Given the description of an element on the screen output the (x, y) to click on. 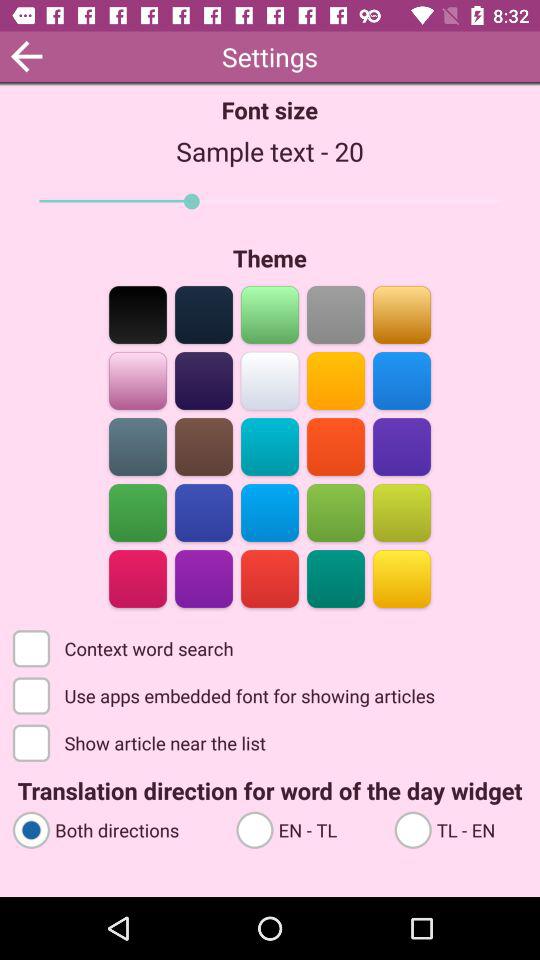
tap icon below use apps embedded icon (141, 741)
